Given the description of an element on the screen output the (x, y) to click on. 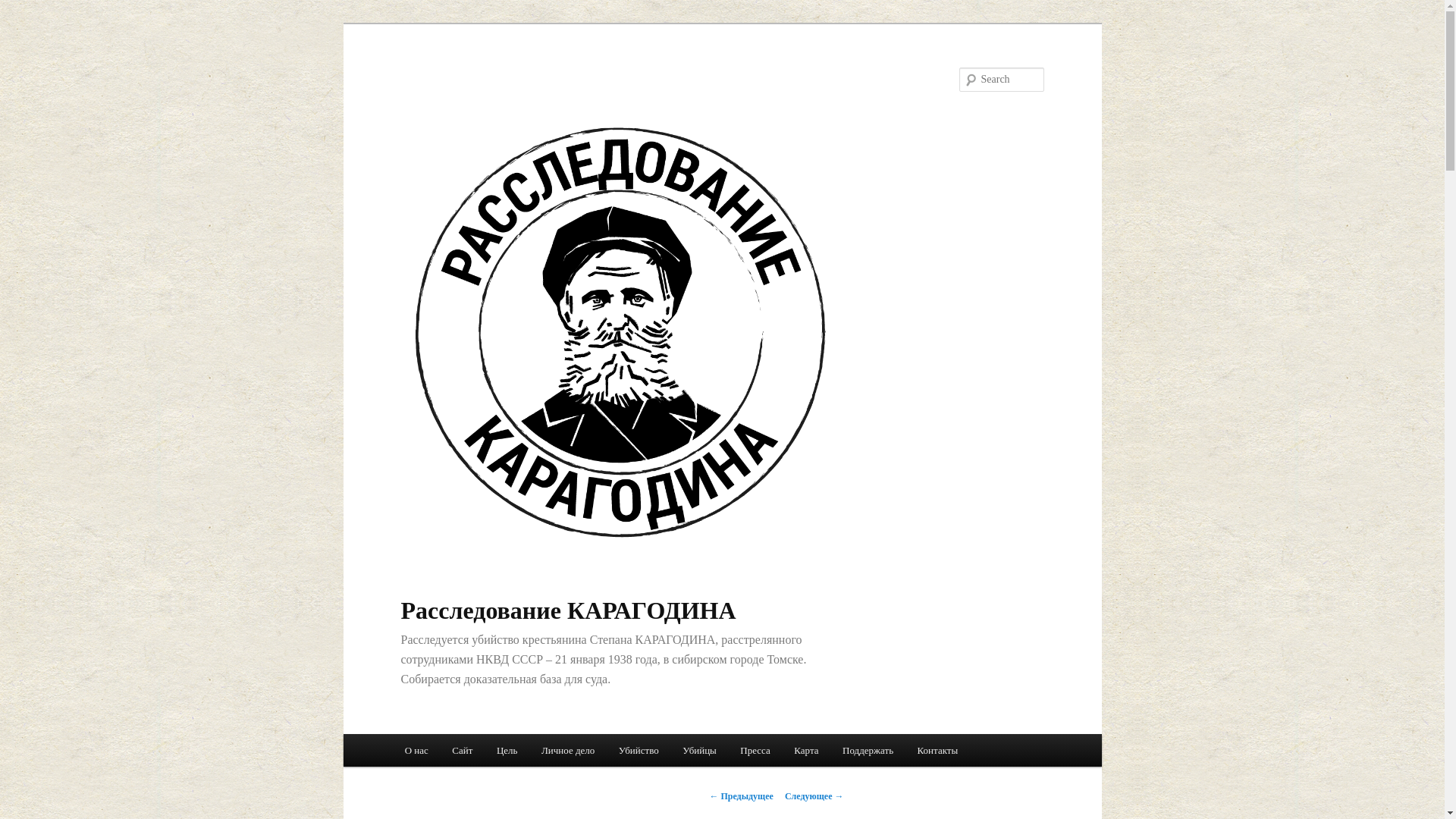
Search (21, 8)
